Given the description of an element on the screen output the (x, y) to click on. 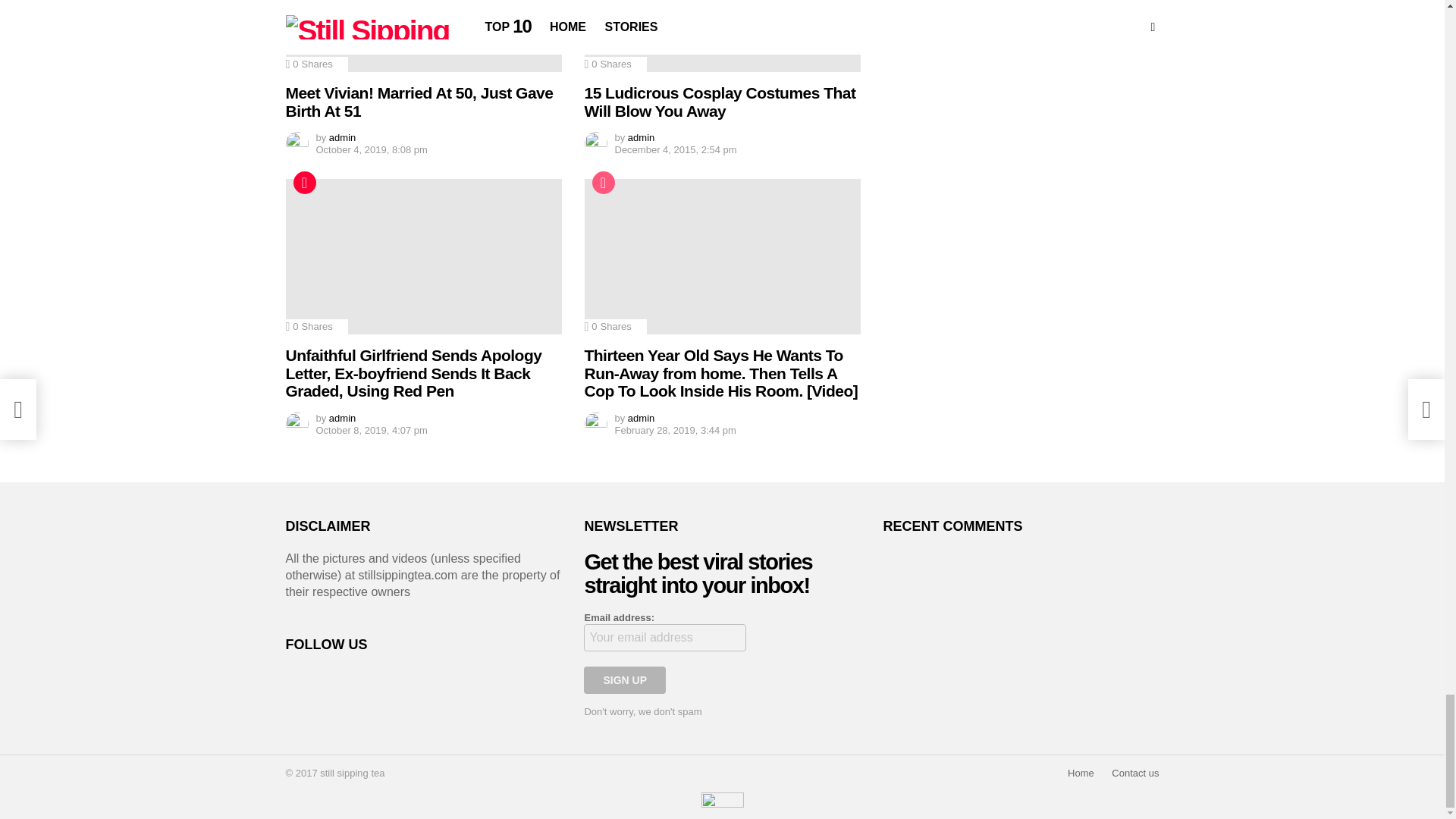
Sign up (624, 679)
